Given the description of an element on the screen output the (x, y) to click on. 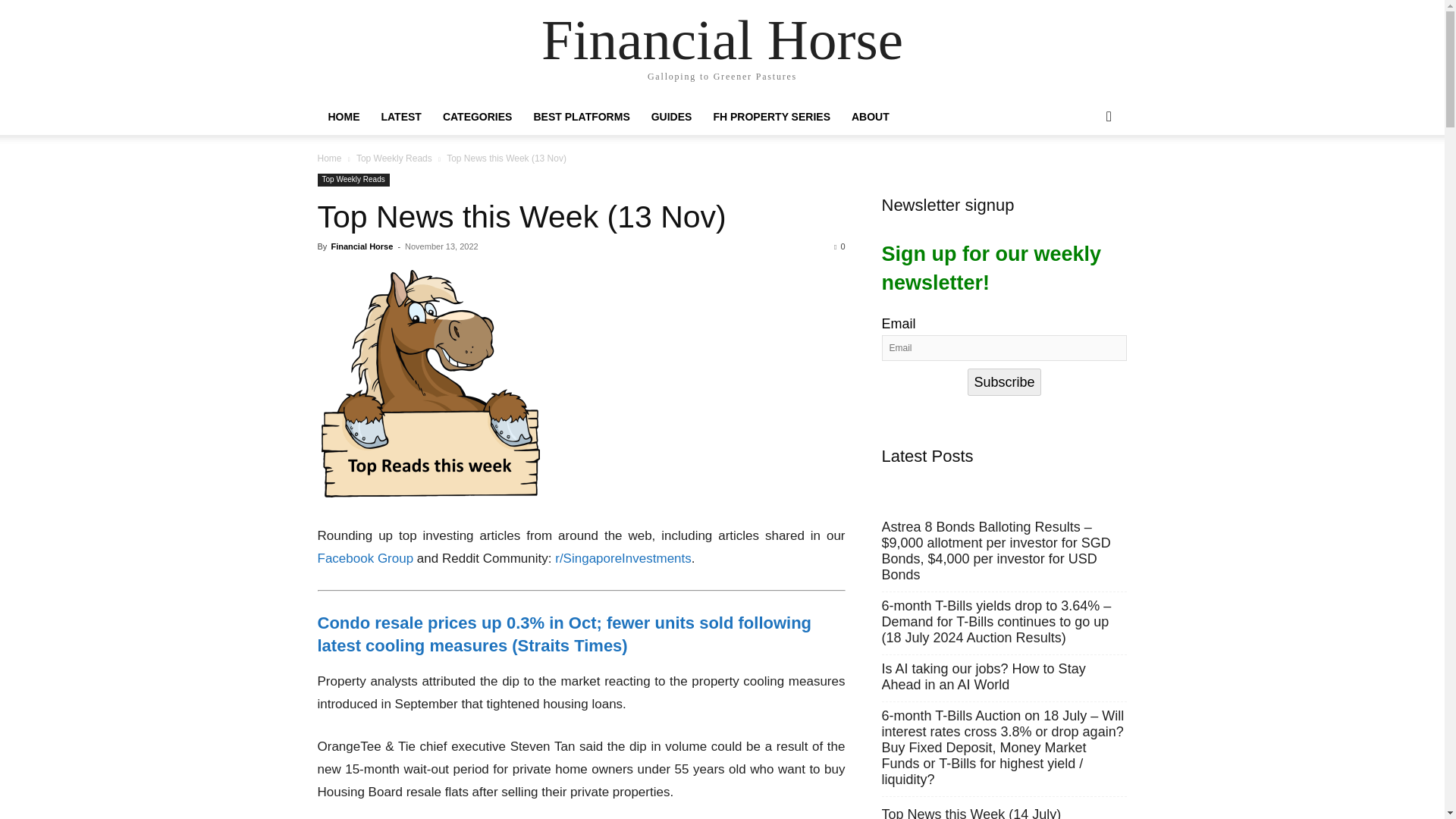
Financial Horse Galloping to Greener Pastures (721, 49)
HOME (343, 116)
CATEGORIES (477, 116)
LATEST (399, 116)
View all posts in Top Weekly Reads (394, 158)
